Given the description of an element on the screen output the (x, y) to click on. 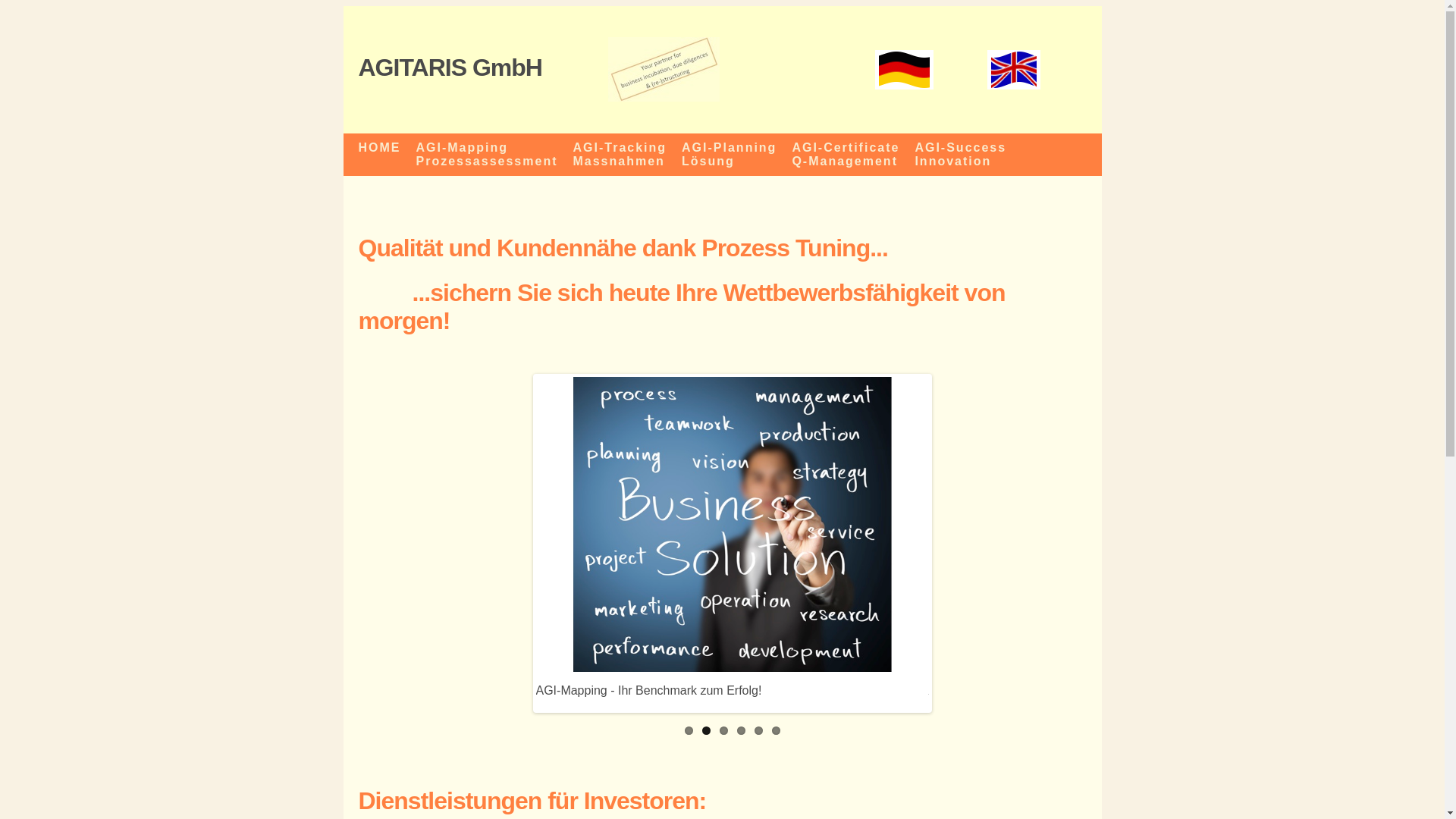
3 Element type: text (722, 730)
1 Element type: text (688, 730)
5 Element type: text (757, 730)
HOME Element type: text (378, 154)
AGI-Tracking
Massnahmen Element type: text (619, 154)
2 Element type: text (706, 730)
Deutsch Element type: hover (904, 69)
6 Element type: text (775, 730)
English Element type: hover (1013, 69)
AGI-Certificate
Q-Management Element type: text (845, 154)
AGI-Mapping
Prozessassessment Element type: text (485, 154)
4 Element type: text (741, 730)
AGI-Success
Innovation Element type: text (959, 154)
